Given the description of an element on the screen output the (x, y) to click on. 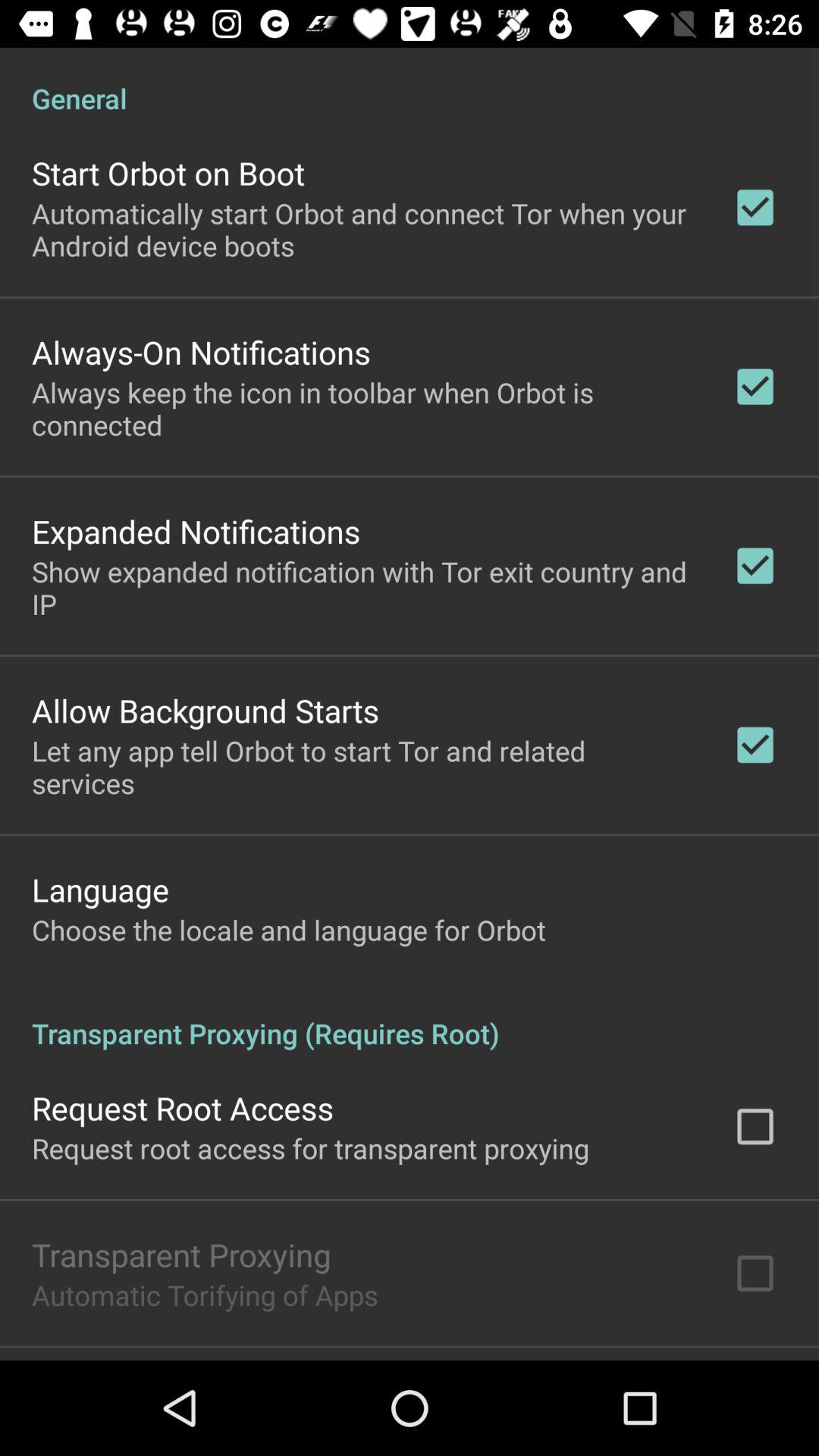
press the app below the transparent proxying app (204, 1294)
